Given the description of an element on the screen output the (x, y) to click on. 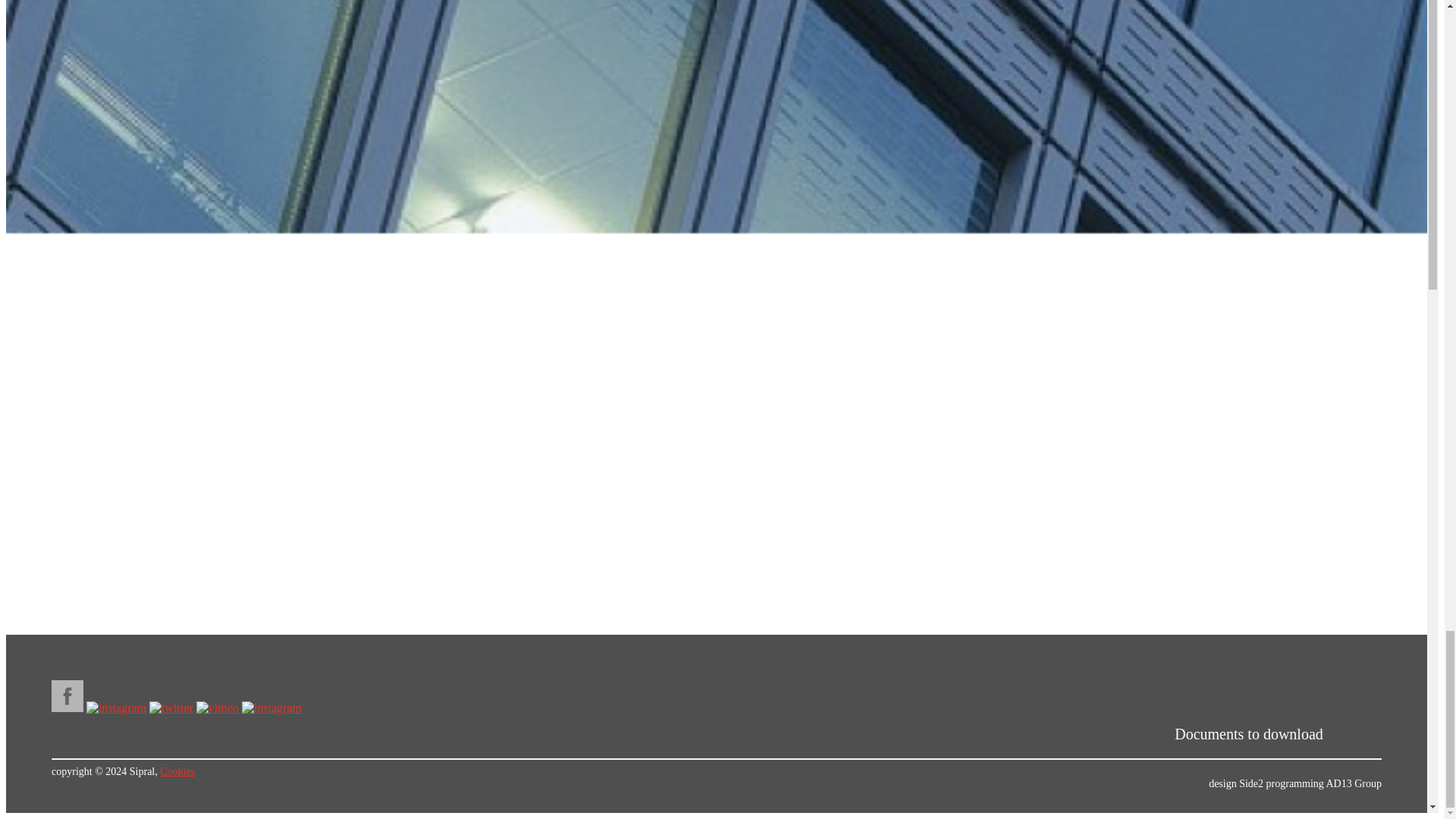
Cookies (177, 771)
Documents to download (1248, 733)
